Given the description of an element on the screen output the (x, y) to click on. 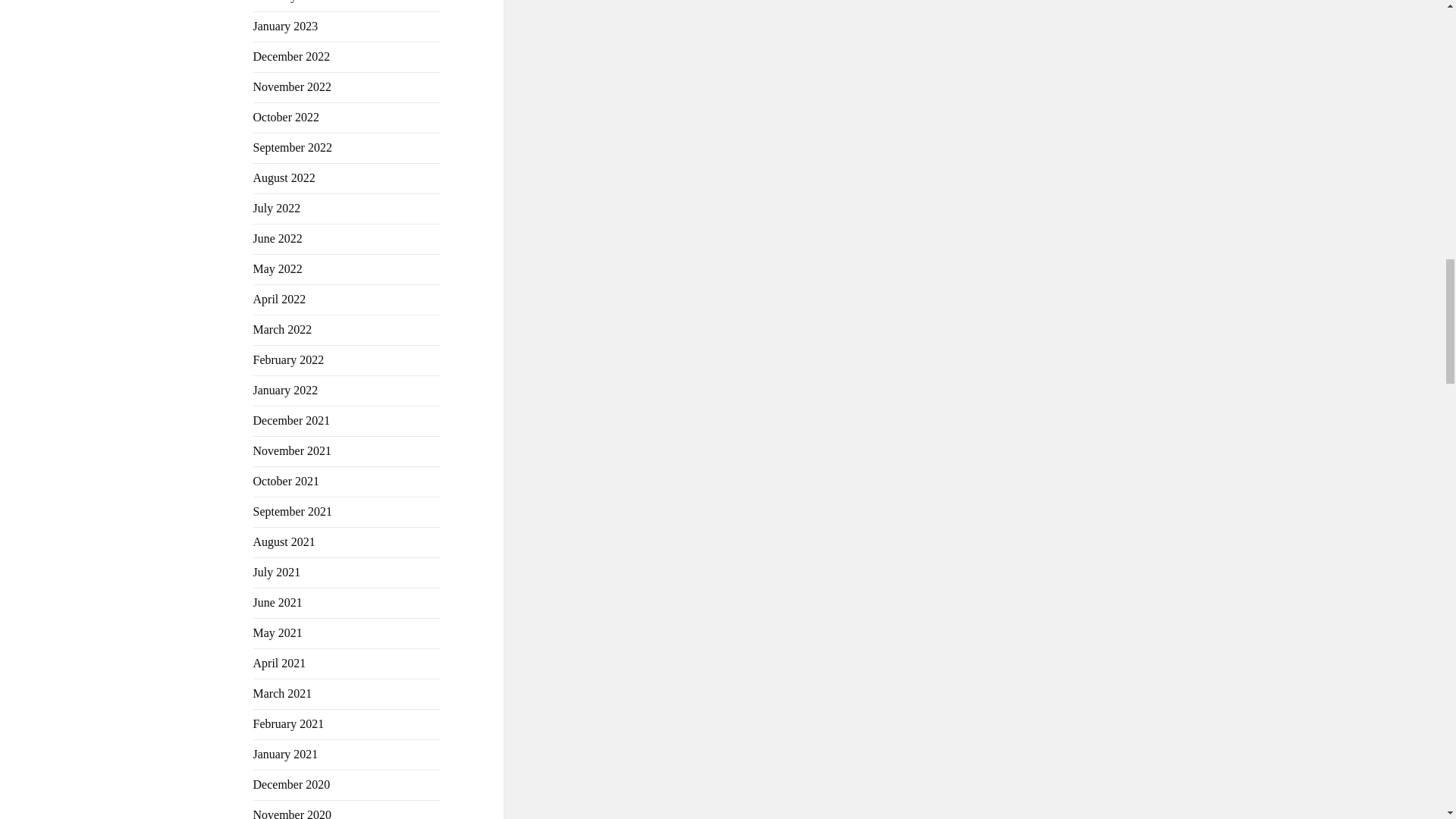
February 2023 (288, 1)
December 2022 (291, 56)
January 2023 (285, 25)
